Given the description of an element on the screen output the (x, y) to click on. 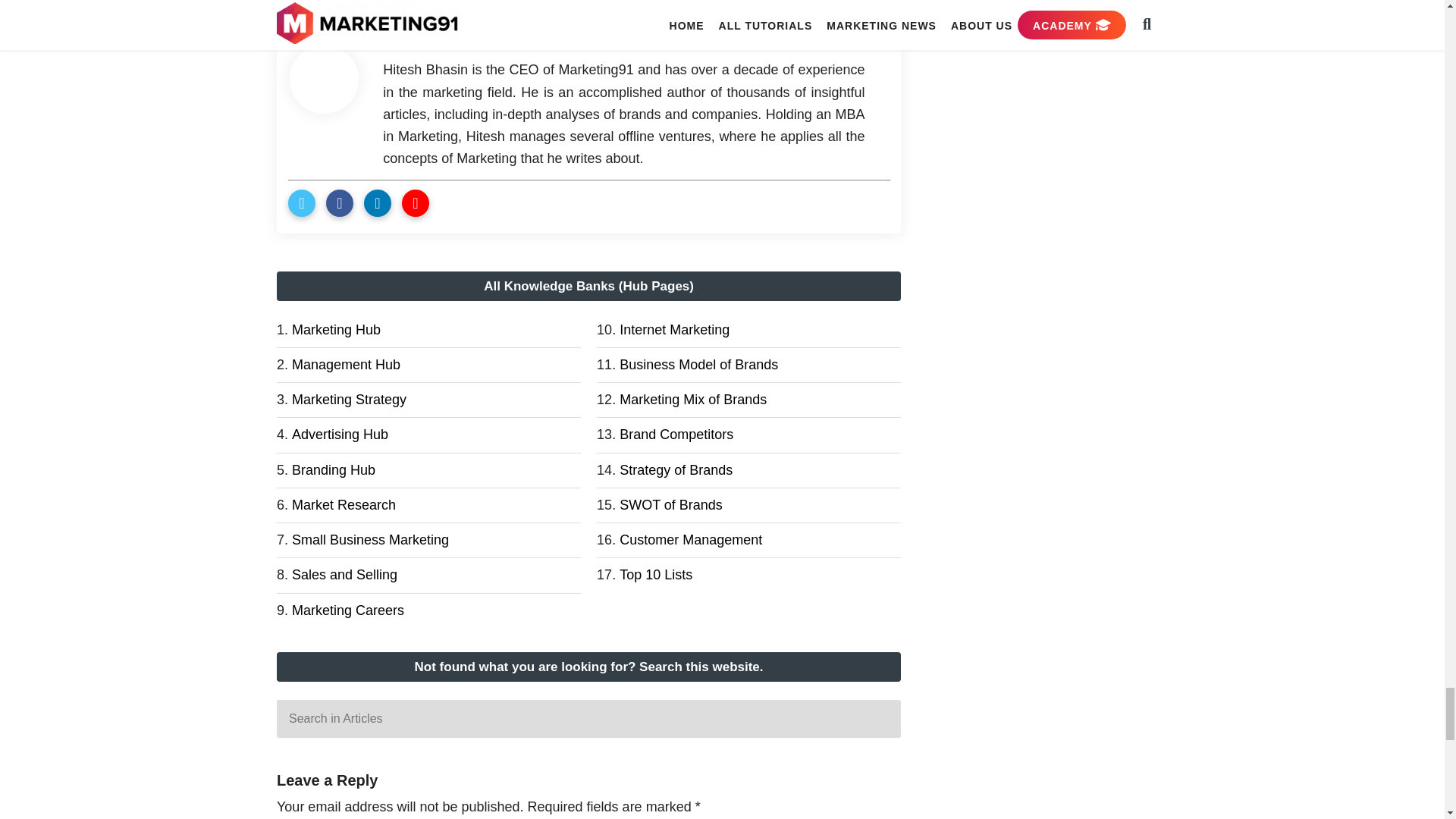
View all posts by Hitesh Bhasin (478, 36)
